Given the description of an element on the screen output the (x, y) to click on. 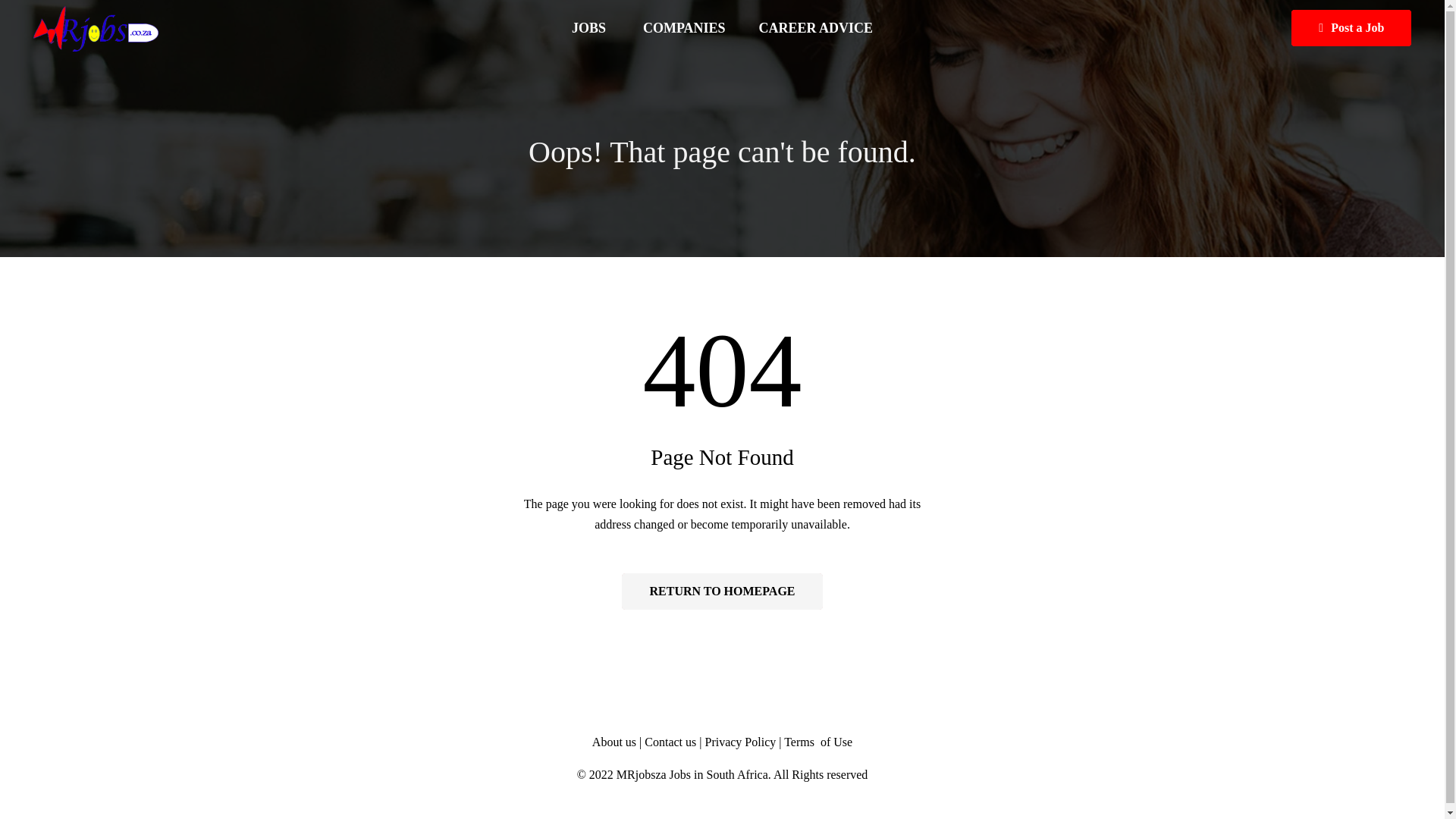
About us (614, 741)
Privacy Policy (740, 741)
COMPANIES (684, 27)
CAREER ADVICE (816, 27)
Post a Job (1350, 27)
Home Page (721, 591)
Terms  of Use (817, 741)
Contact us (671, 741)
JOBS (590, 27)
RETURN TO HOMEPAGE (721, 591)
